Given the description of an element on the screen output the (x, y) to click on. 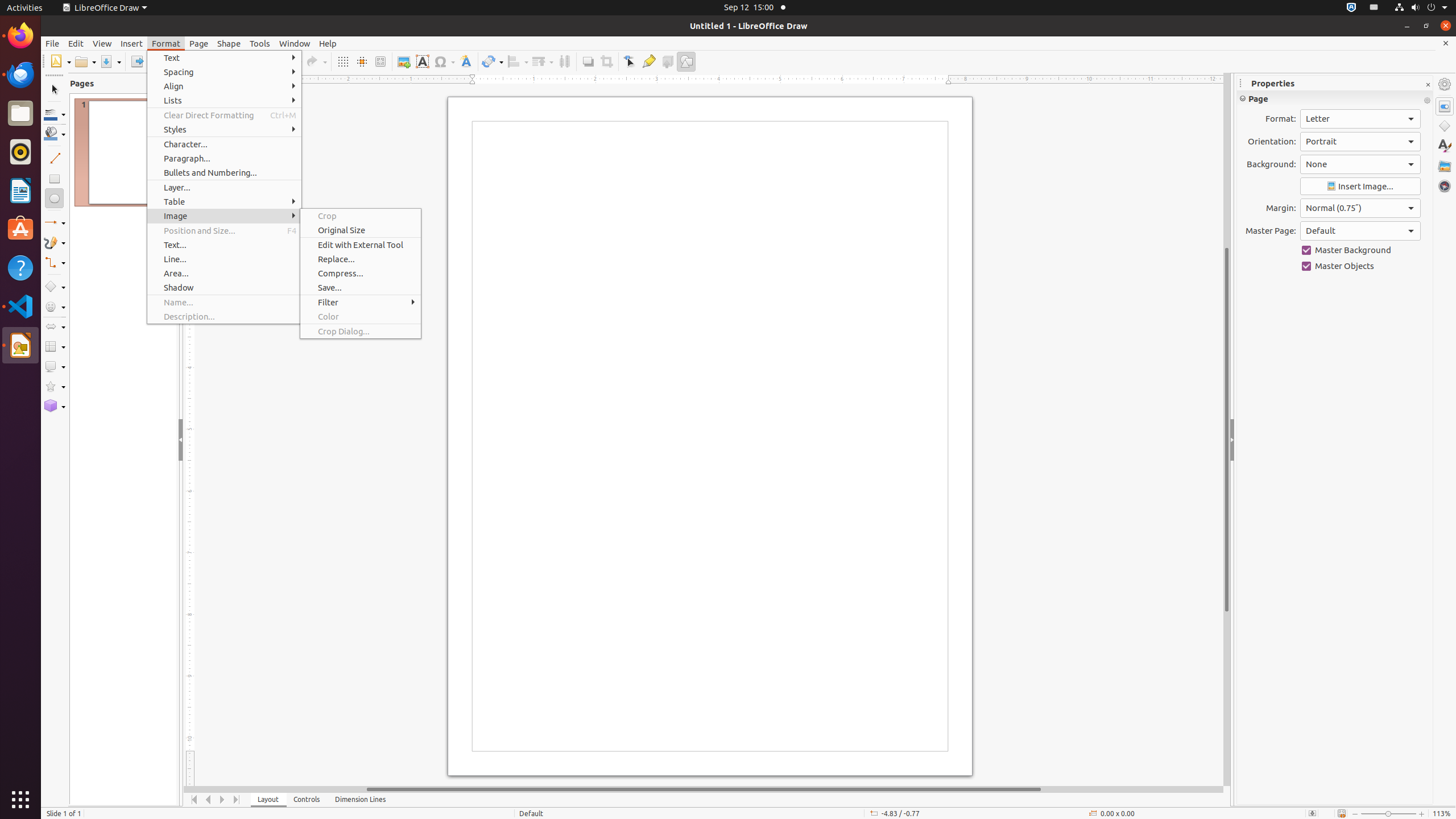
Margin: Element type: combo-box (1360, 207)
LibreOffice Draw Element type: push-button (20, 344)
Name... Element type: menu-item (224, 302)
Paragraph... Element type: menu-item (224, 158)
Rhythmbox Element type: push-button (20, 151)
